Given the description of an element on the screen output the (x, y) to click on. 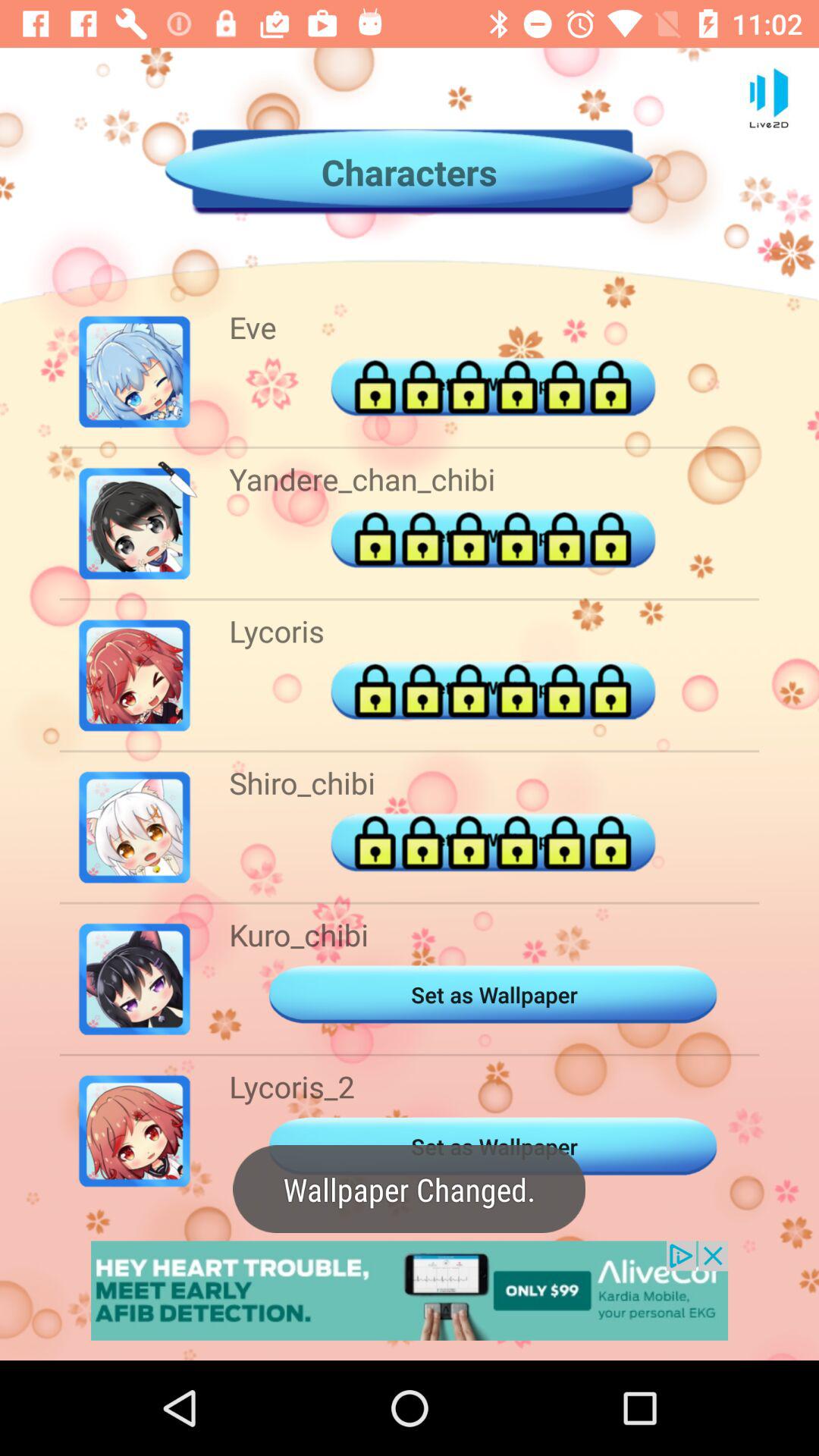
view advertisement (409, 1290)
